Given the description of an element on the screen output the (x, y) to click on. 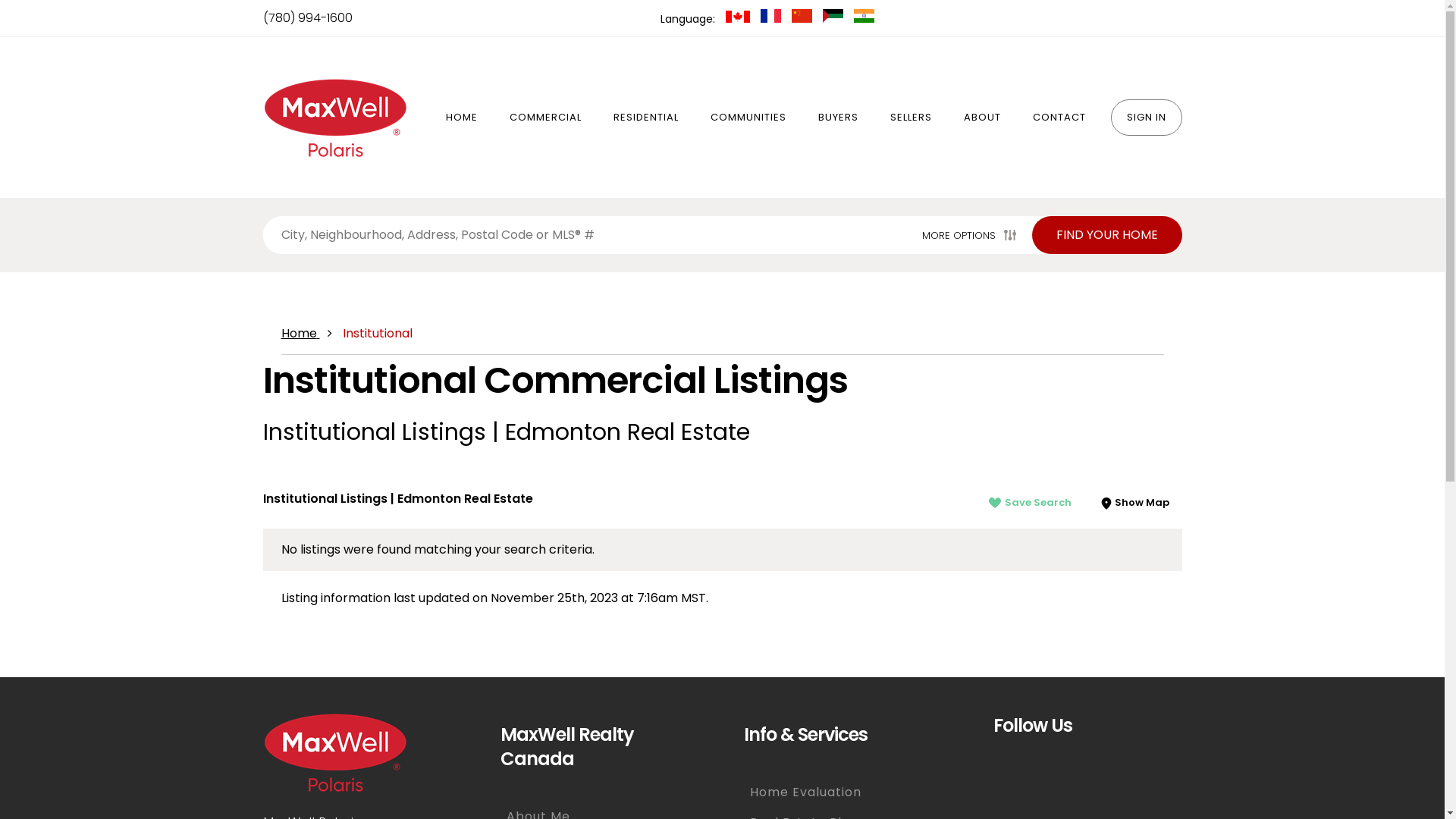
English Canadian Element type: text (738, 17)
RESIDENTIAL Element type: text (645, 116)
COMMUNITIES Element type: text (748, 116)
COMMERCIAL Element type: text (544, 116)
Hindi Element type: hover (863, 17)
Chinese Element type: text (803, 17)
Show Map Element type: text (1134, 502)
FIND YOUR HOME Element type: text (1106, 235)
French Element type: hover (771, 17)
HOME Element type: text (460, 116)
Site Logo Element type: hover (334, 751)
SELLERS Element type: text (910, 116)
Site Logo Element type: hover (334, 116)
CONTACT Element type: text (1058, 116)
MORE OPTIONS Element type: text (970, 234)
Home Evaluation Element type: text (843, 792)
BUYERS Element type: text (838, 116)
Save Search Element type: text (1029, 502)
Arabic Element type: hover (833, 17)
Home Element type: text (299, 333)
ABOUT Element type: text (981, 116)
SIGN IN Element type: text (1145, 116)
